Given the description of an element on the screen output the (x, y) to click on. 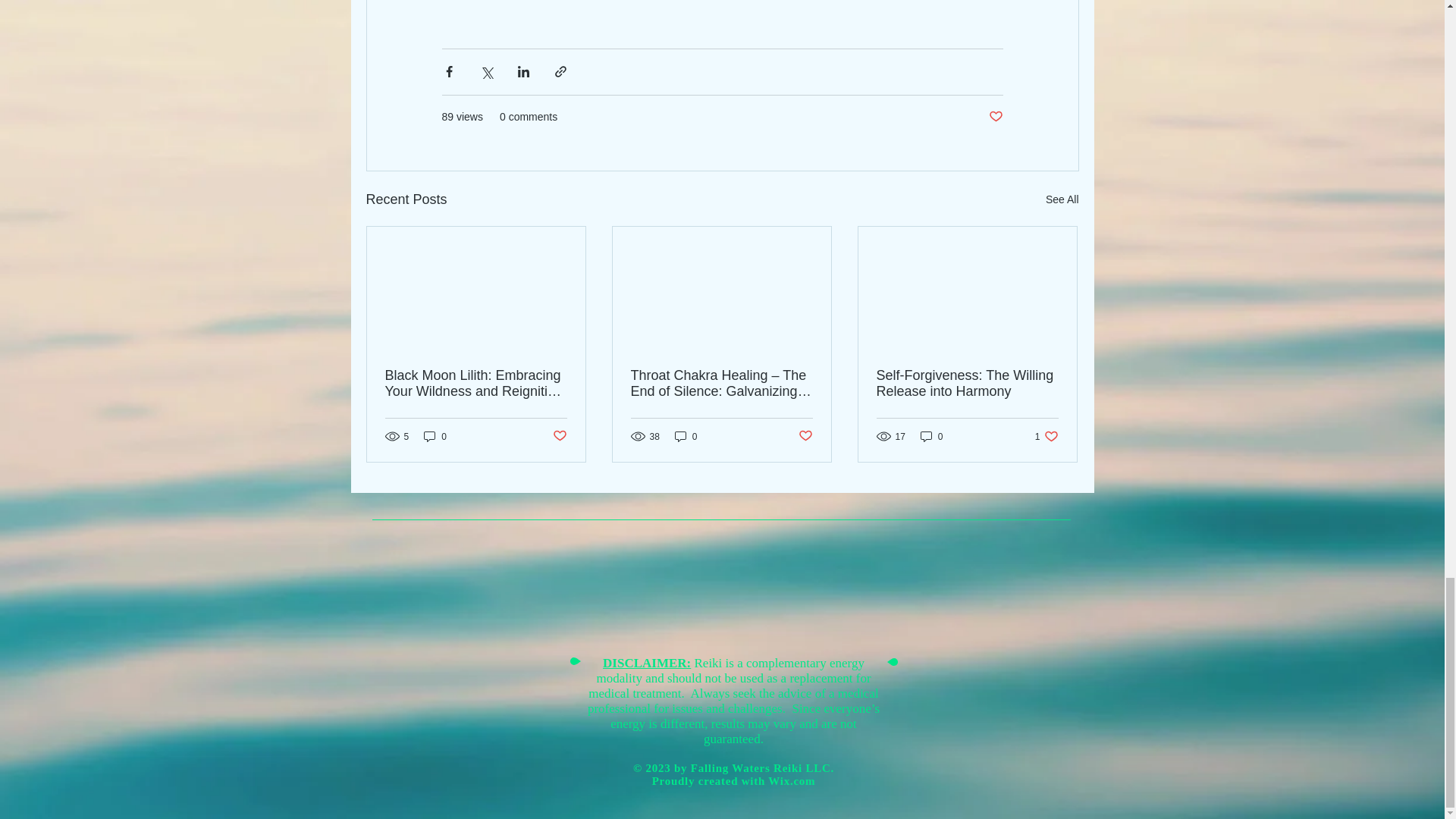
0 (1046, 436)
0 (931, 436)
Post not marked as liked (685, 436)
0 (995, 116)
Post not marked as liked (435, 436)
Wix.com (804, 436)
Self-Forgiveness: The Willing Release into Harmony (791, 780)
See All (967, 383)
Post not marked as liked (1061, 199)
